Given the description of an element on the screen output the (x, y) to click on. 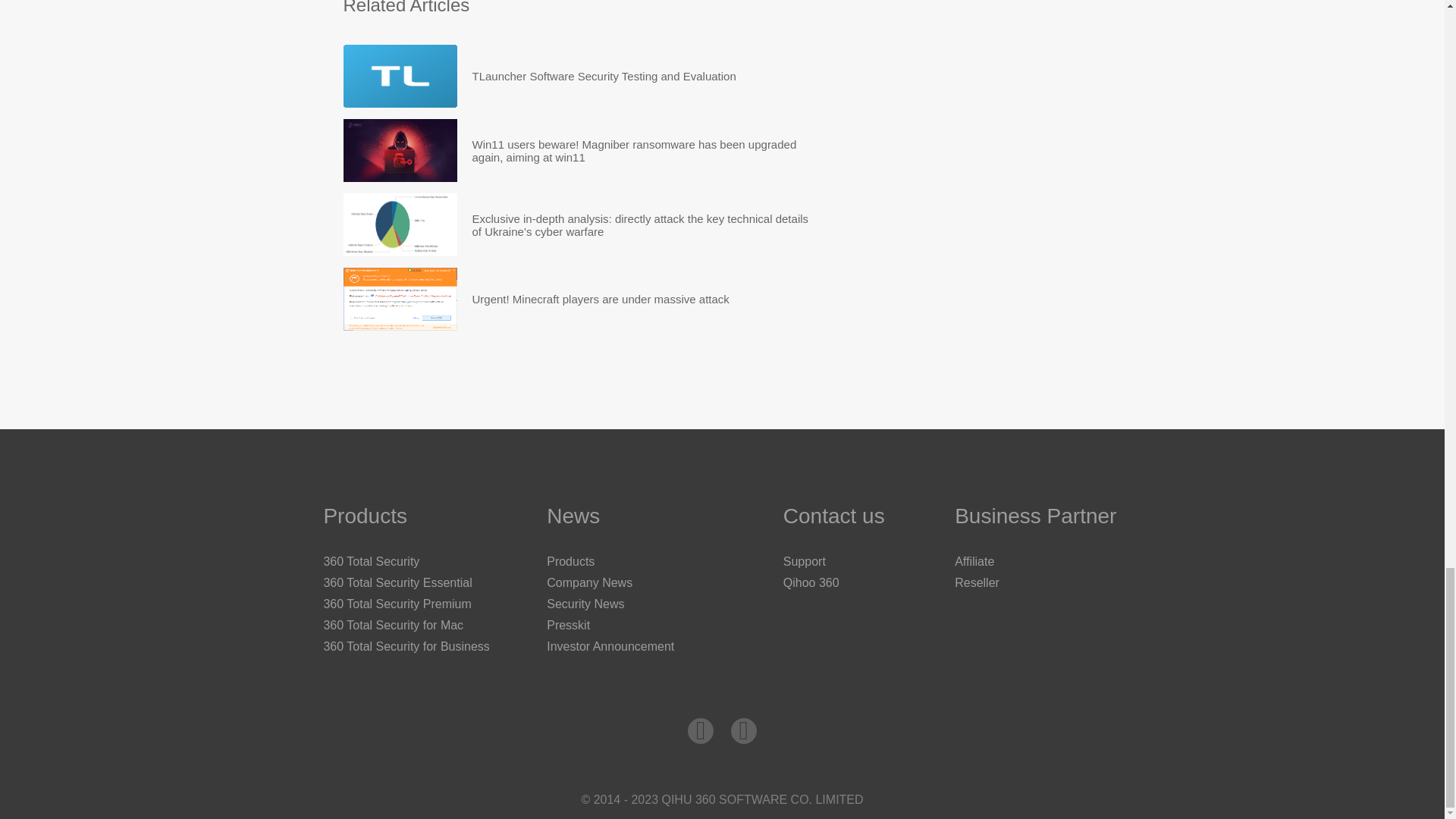
TLauncher Software Security Testing and Evaluation (603, 76)
Urgent! Minecraft players are under massive attack (399, 298)
Urgent! Minecraft players are under massive attack (600, 298)
TLauncher Software Security Testing and Evaluation (603, 76)
Urgent! Minecraft players are under massive attack (600, 298)
TLauncher Software Security Testing and Evaluation (399, 76)
